Given the description of an element on the screen output the (x, y) to click on. 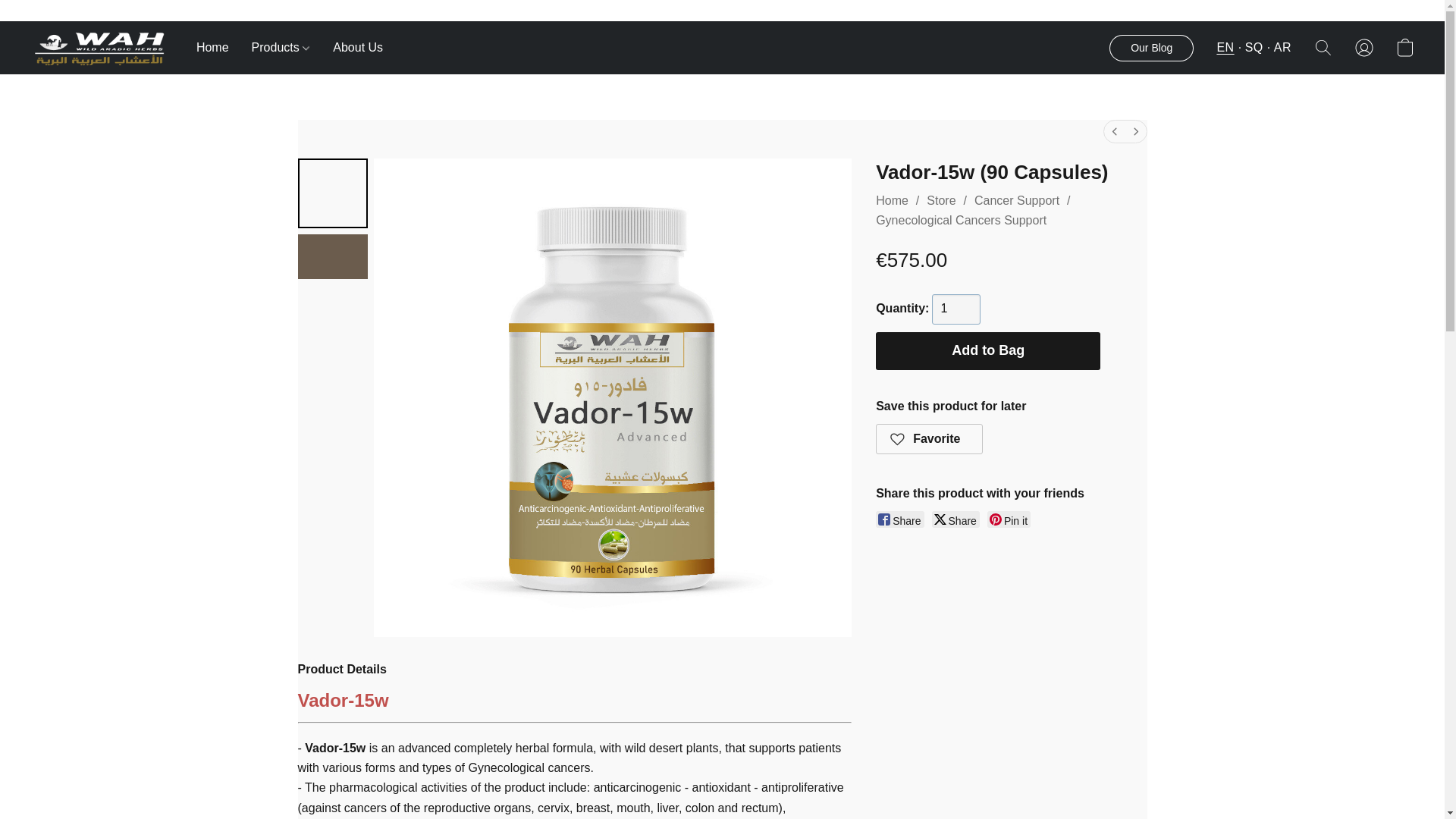
Share (955, 519)
Share (899, 519)
Add to Bag (988, 351)
Products (280, 47)
Go to your shopping cart (1404, 47)
About Us (351, 47)
Gynecological Cancers Support (976, 229)
Our Blog (1151, 48)
Pin it (1008, 519)
Favorite (929, 439)
Search the website (1323, 47)
Home (218, 47)
Store (940, 200)
Cancer Support (1016, 200)
Home (892, 200)
